Given the description of an element on the screen output the (x, y) to click on. 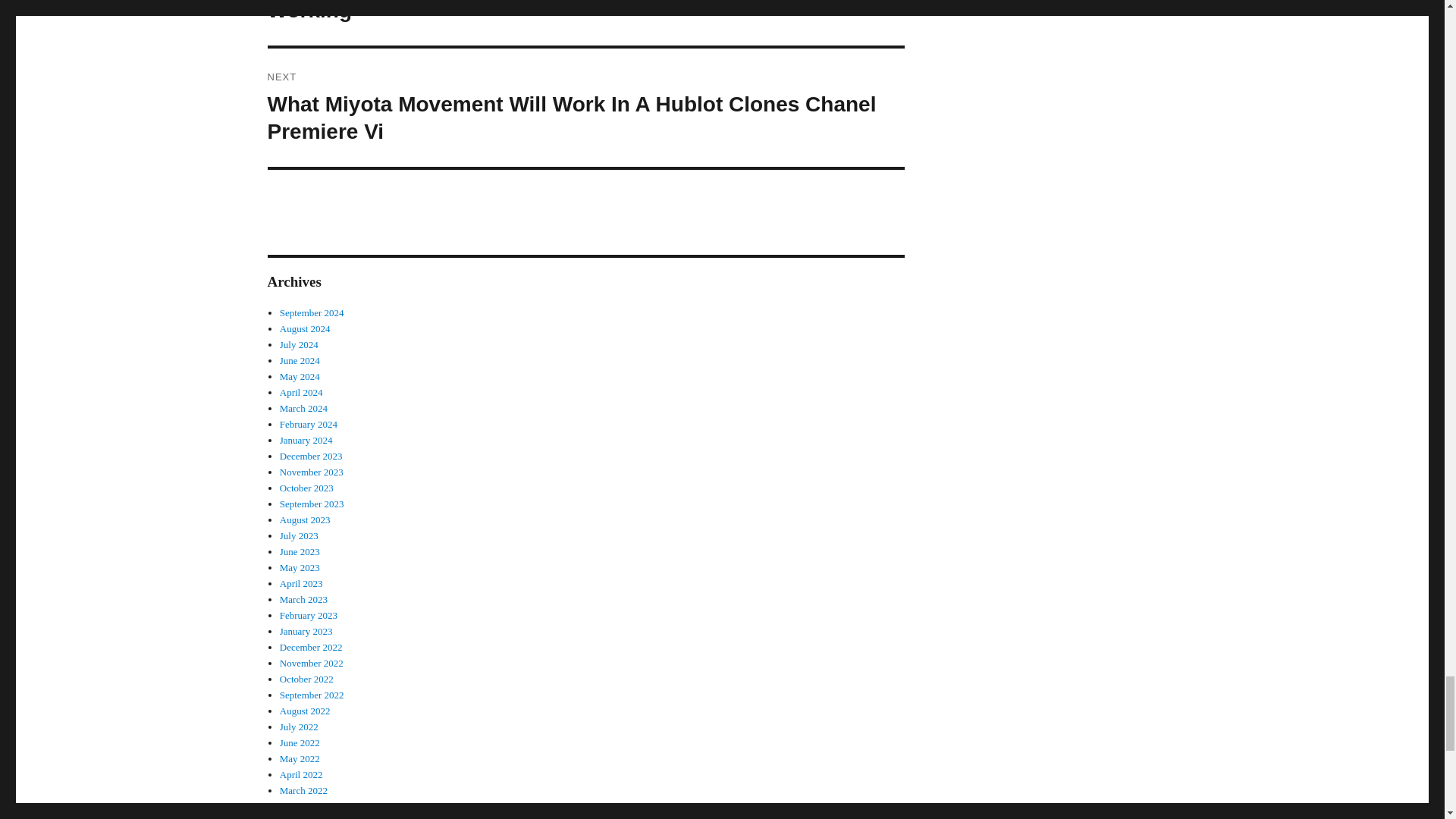
January 2024 (306, 439)
November 2022 (311, 663)
February 2024 (308, 423)
May 2024 (299, 376)
August 2022 (304, 710)
September 2022 (311, 695)
February 2023 (308, 614)
August 2023 (304, 519)
April 2023 (301, 583)
June 2023 (299, 551)
